Given the description of an element on the screen output the (x, y) to click on. 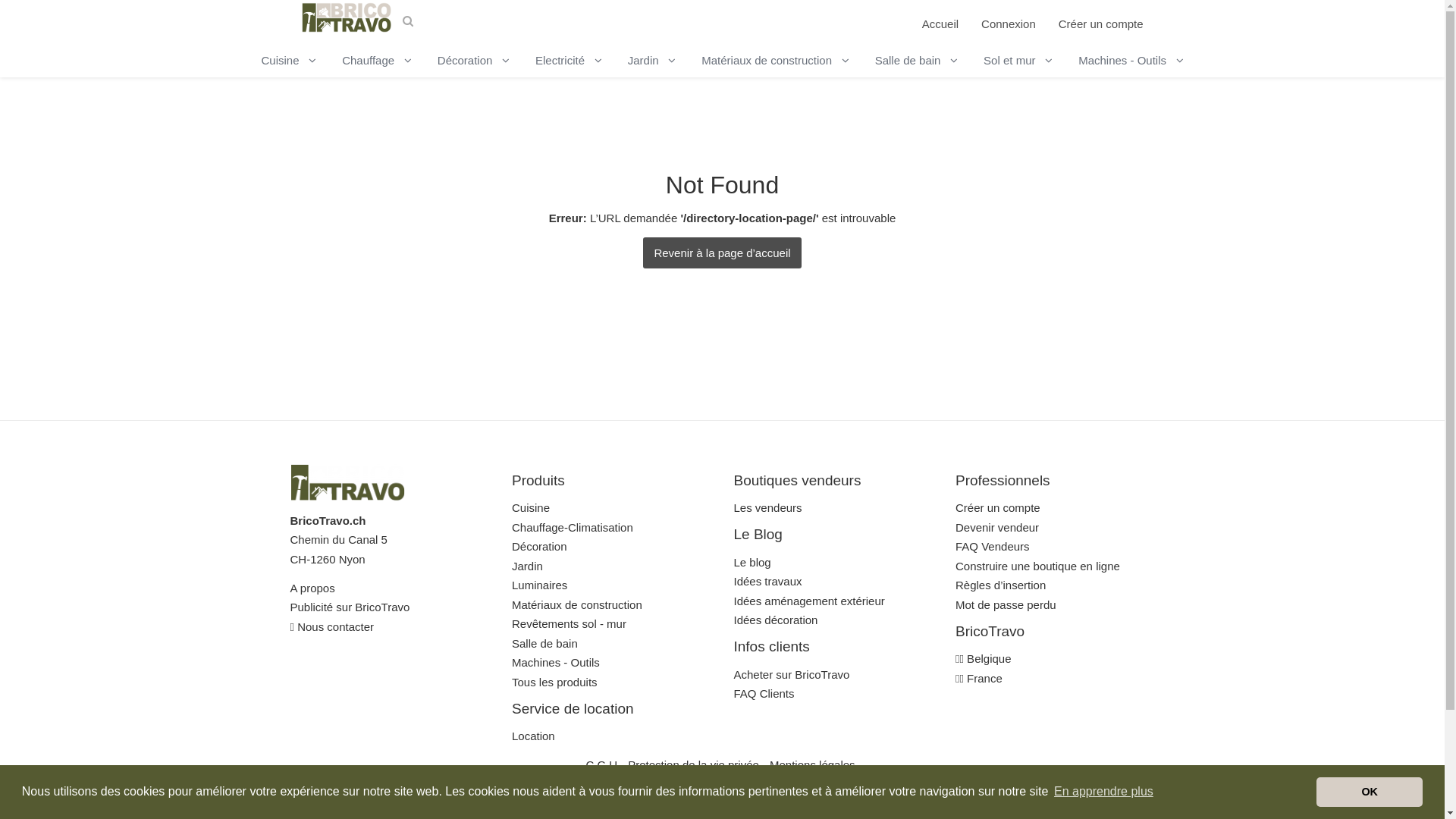
Accueil Element type: text (939, 25)
Construire une boutique en ligne Element type: text (1037, 565)
Luminaires Element type: text (539, 584)
OK Element type: text (1369, 791)
FAQ Vendeurs Element type: text (992, 545)
Tous les produits Element type: text (554, 681)
A propos Element type: text (311, 587)
Les vendeurs Element type: text (768, 507)
Salle de bain Element type: text (544, 643)
Salle de bain    Element type: text (916, 59)
Machines - Outils    Element type: text (1130, 59)
Le blog Element type: text (752, 561)
Mot de passe perdu Element type: text (1005, 604)
C.G.U Element type: text (601, 764)
Cuisine    Element type: text (288, 59)
Connexion Element type: text (1008, 25)
Chauffage    Element type: text (376, 59)
Cuisine Element type: text (530, 507)
Sol et mur    Element type: text (1017, 59)
Jardin    Element type: text (651, 59)
Jardin Element type: text (526, 565)
En apprendre plus Element type: text (1103, 791)
Devenir vendeur Element type: text (996, 526)
Chauffage-Climatisation Element type: text (572, 526)
FAQ Clients Element type: text (764, 693)
Machines - Outils Element type: text (555, 661)
